Given the description of an element on the screen output the (x, y) to click on. 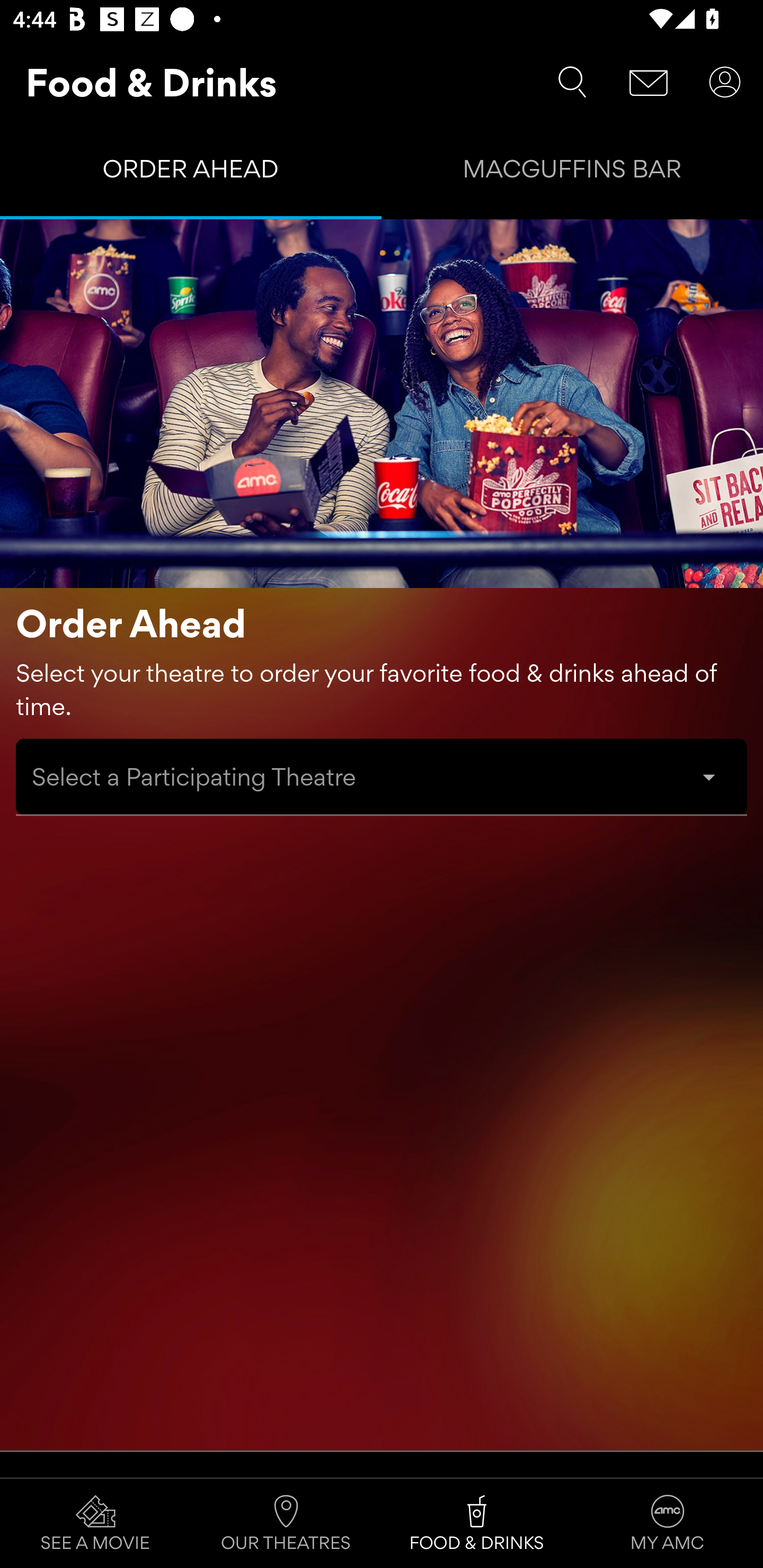
Search (572, 82)
Message Center (648, 82)
User Account (724, 82)
ORDER AHEAD
Tab 1 of 2 (190, 173)
MACGUFFINS BAR
Tab 2 of 2 (572, 173)
SEE A MOVIE
Tab 1 of 4 (95, 1523)
OUR THEATRES
Tab 2 of 4 (285, 1523)
FOOD & DRINKS
Tab 3 of 4 (476, 1523)
MY AMC
Tab 4 of 4 (667, 1523)
